Given the description of an element on the screen output the (x, y) to click on. 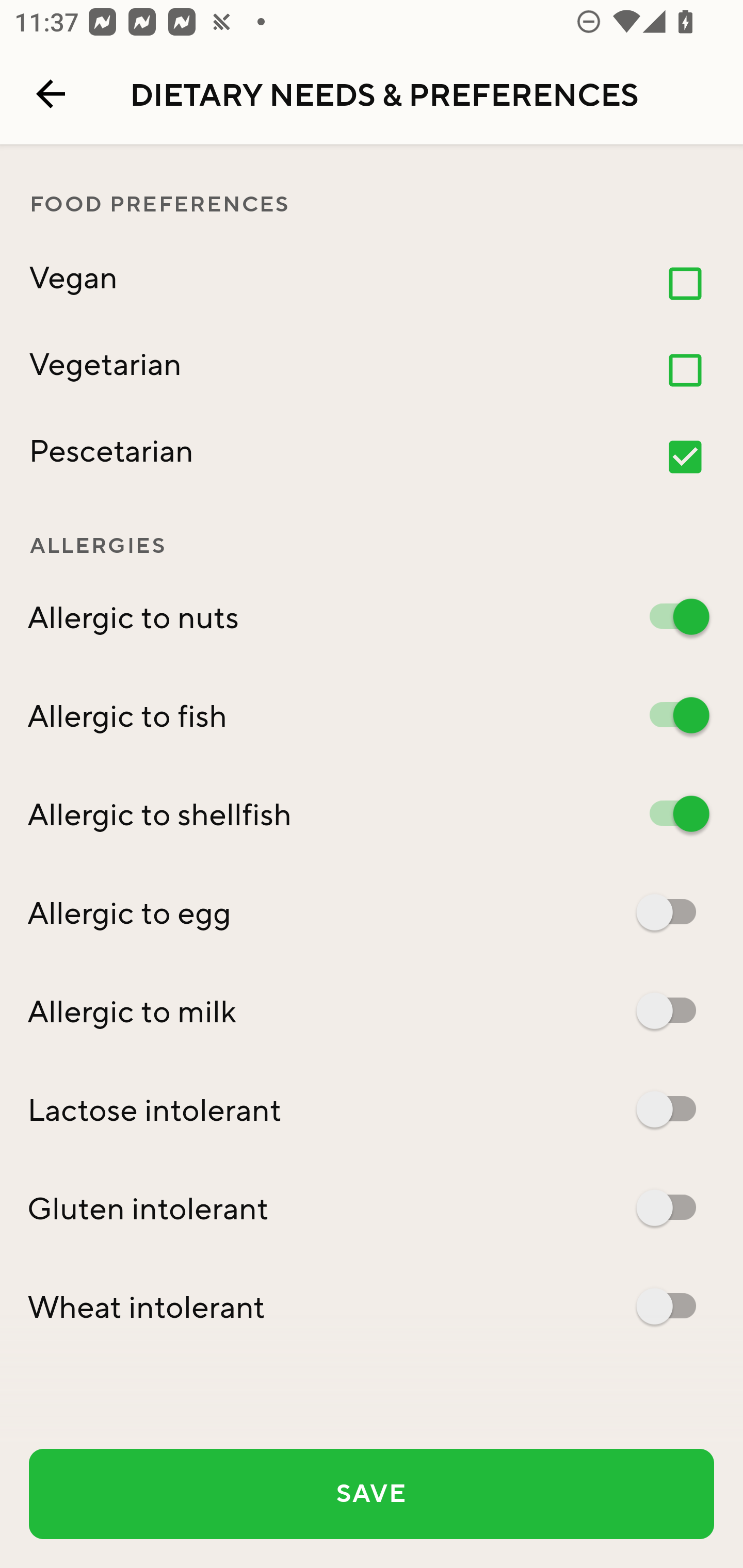
Navigate up (50, 93)
SAVE (371, 1493)
